Given the description of an element on the screen output the (x, y) to click on. 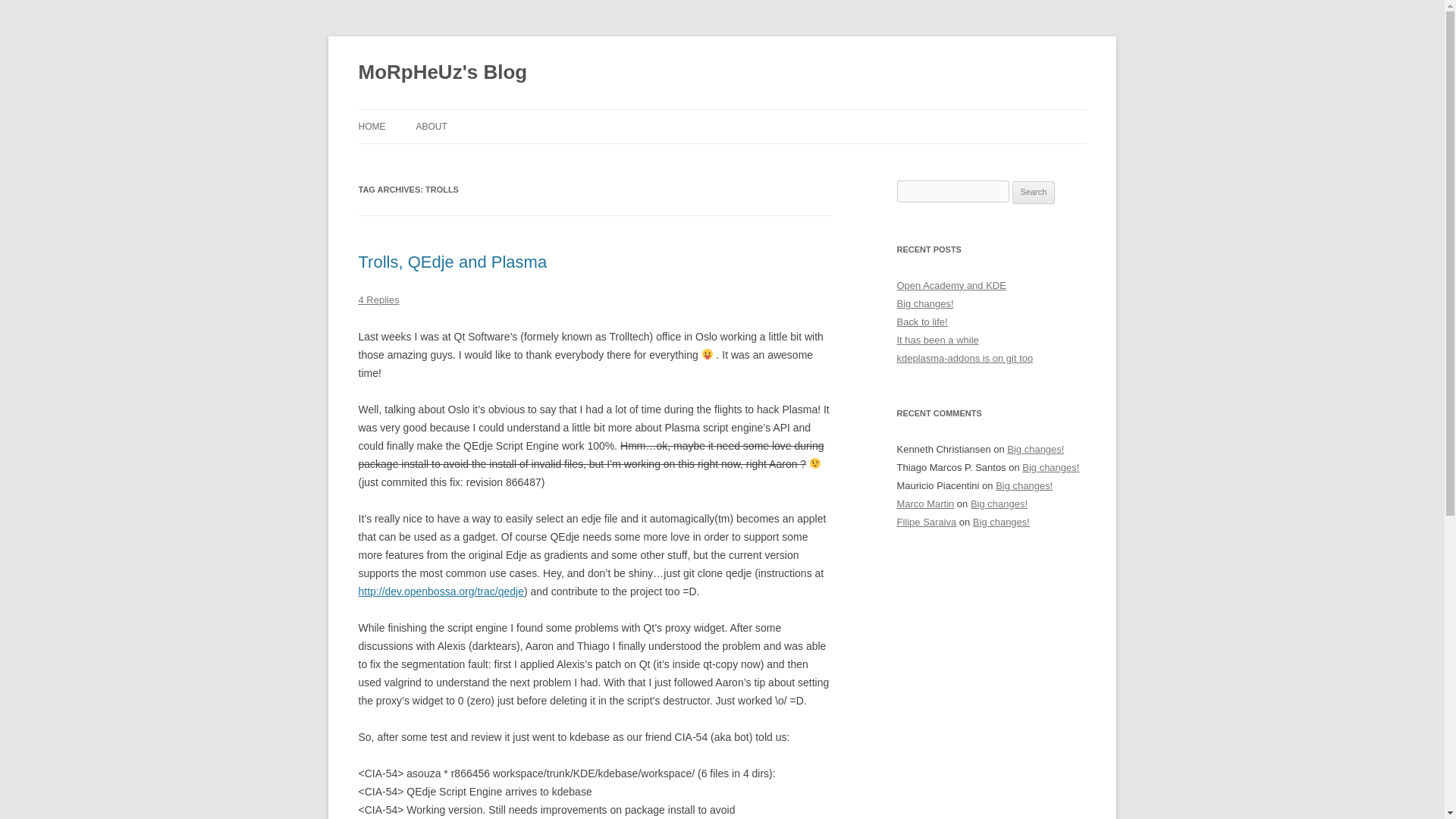
ABOUT (430, 126)
Back to life! (921, 321)
Trolls, QEdje and Plasma (452, 261)
Big changes! (1023, 485)
MoRpHeUz's Blog (442, 72)
Open Academy and KDE (951, 285)
Big changes! (999, 503)
Big changes! (924, 303)
MoRpHeUz's Blog (442, 72)
kdeplasma-addons is on git too (964, 357)
Big changes! (1035, 449)
Filipe Saraiva (926, 521)
Marco Martin (924, 503)
It has been a while (937, 339)
